Given the description of an element on the screen output the (x, y) to click on. 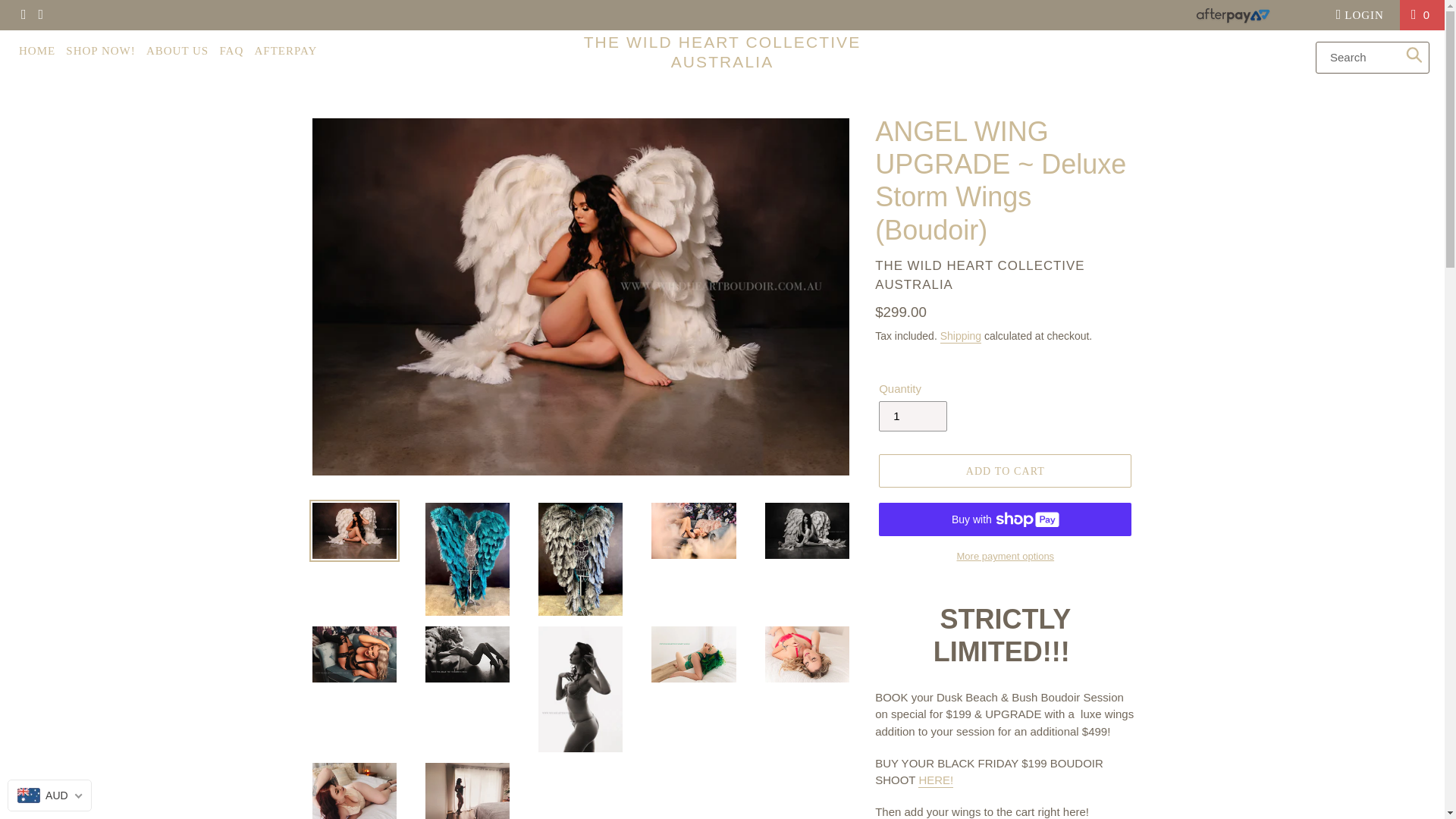
Search (1414, 53)
ABOUT US (177, 50)
THE WILD HEART COLLECTIVE AUSTRALIA (722, 51)
FAQ (231, 50)
1 (913, 416)
AFTERPAY (285, 50)
SHOP NOW! (100, 50)
HOME (1361, 14)
Wild Heart Photography Black Friday Boudoir Shoot! (36, 50)
